Given the description of an element on the screen output the (x, y) to click on. 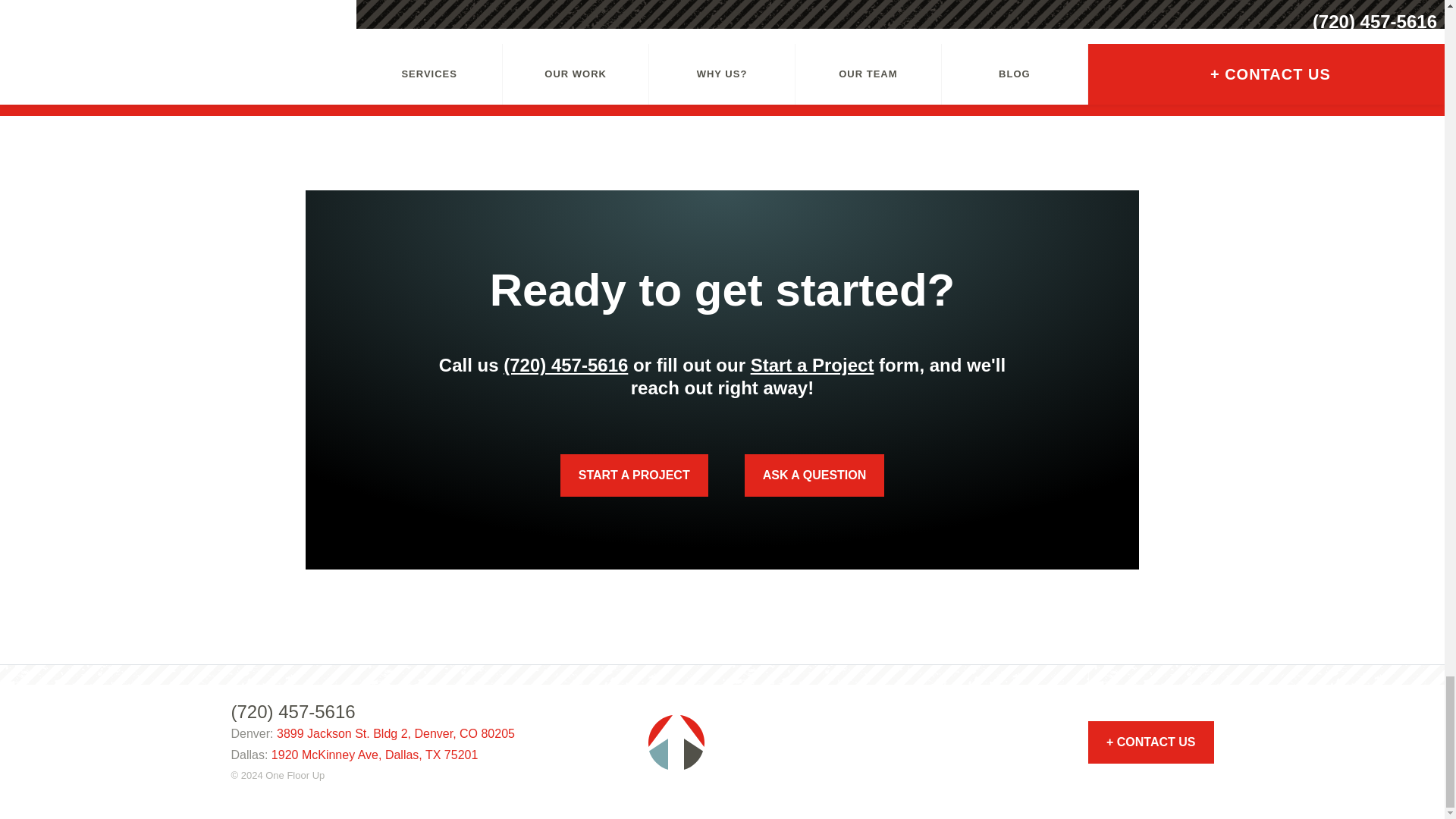
3899 Jackson St. Bldg 2, Denver, CO 80205 (395, 733)
ASK A QUESTION (814, 475)
Subscribe (62, 1)
1920 McKinney Ave, Dallas, TX 75201 (373, 754)
START A PROJECT (633, 475)
Start a Project (813, 364)
Subscribe (62, 1)
